Given the description of an element on the screen output the (x, y) to click on. 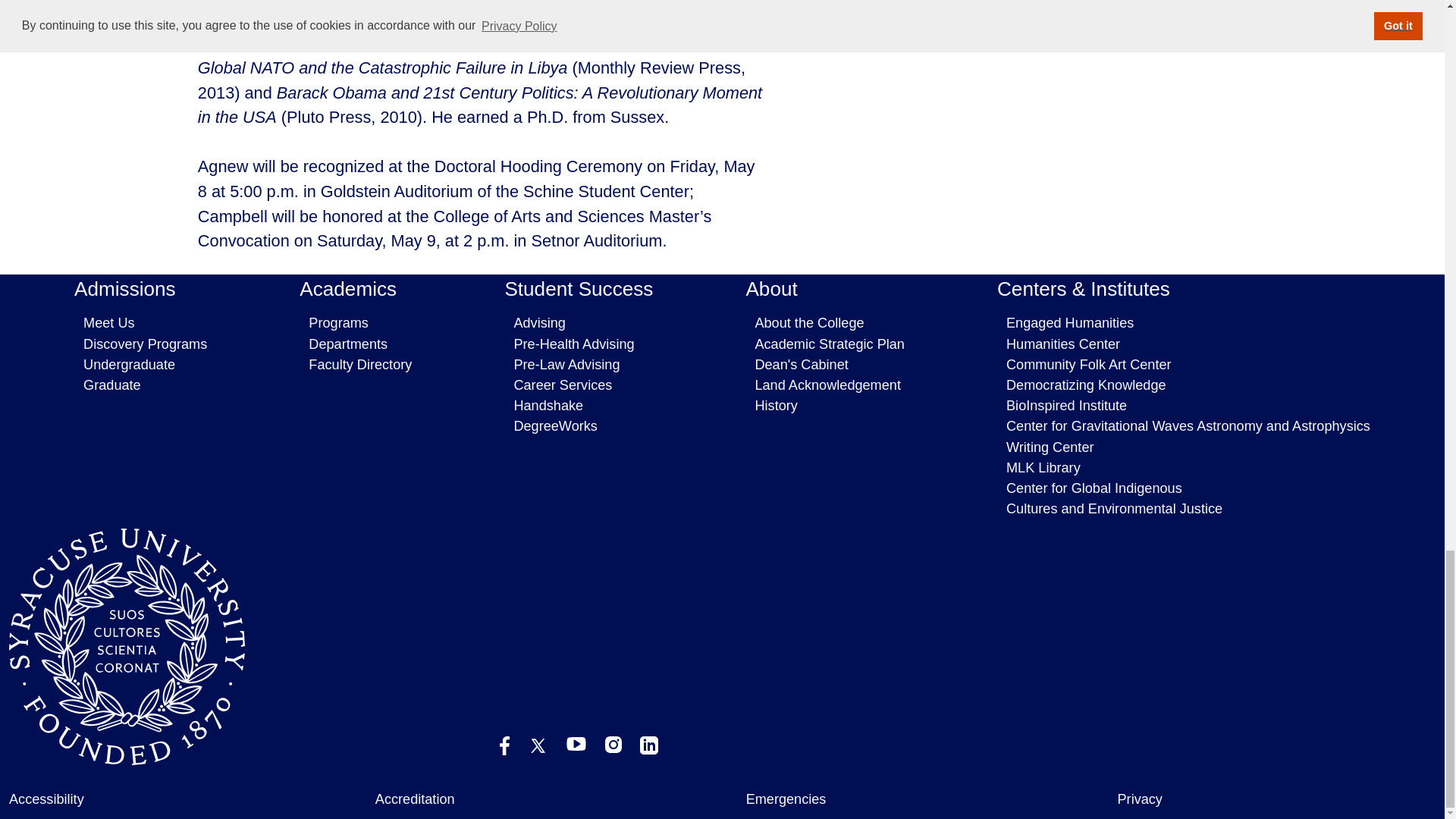
Connect with Arts and Sciences on LinkedIn (649, 745)
Subscribe to Arts and Sciences on YouTube (576, 744)
Follow Arts and Sciences on Instagram (613, 744)
